Given the description of an element on the screen output the (x, y) to click on. 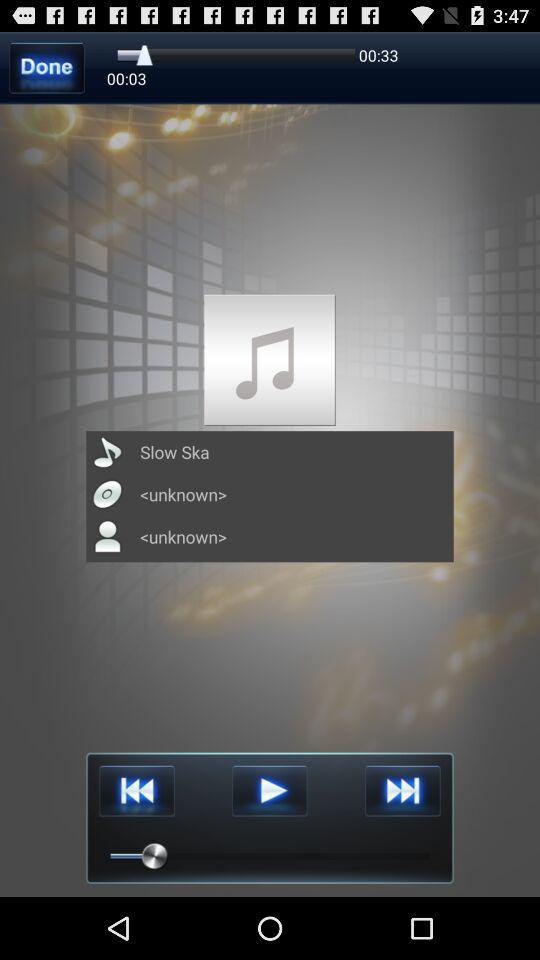
go to previous (136, 790)
